Given the description of an element on the screen output the (x, y) to click on. 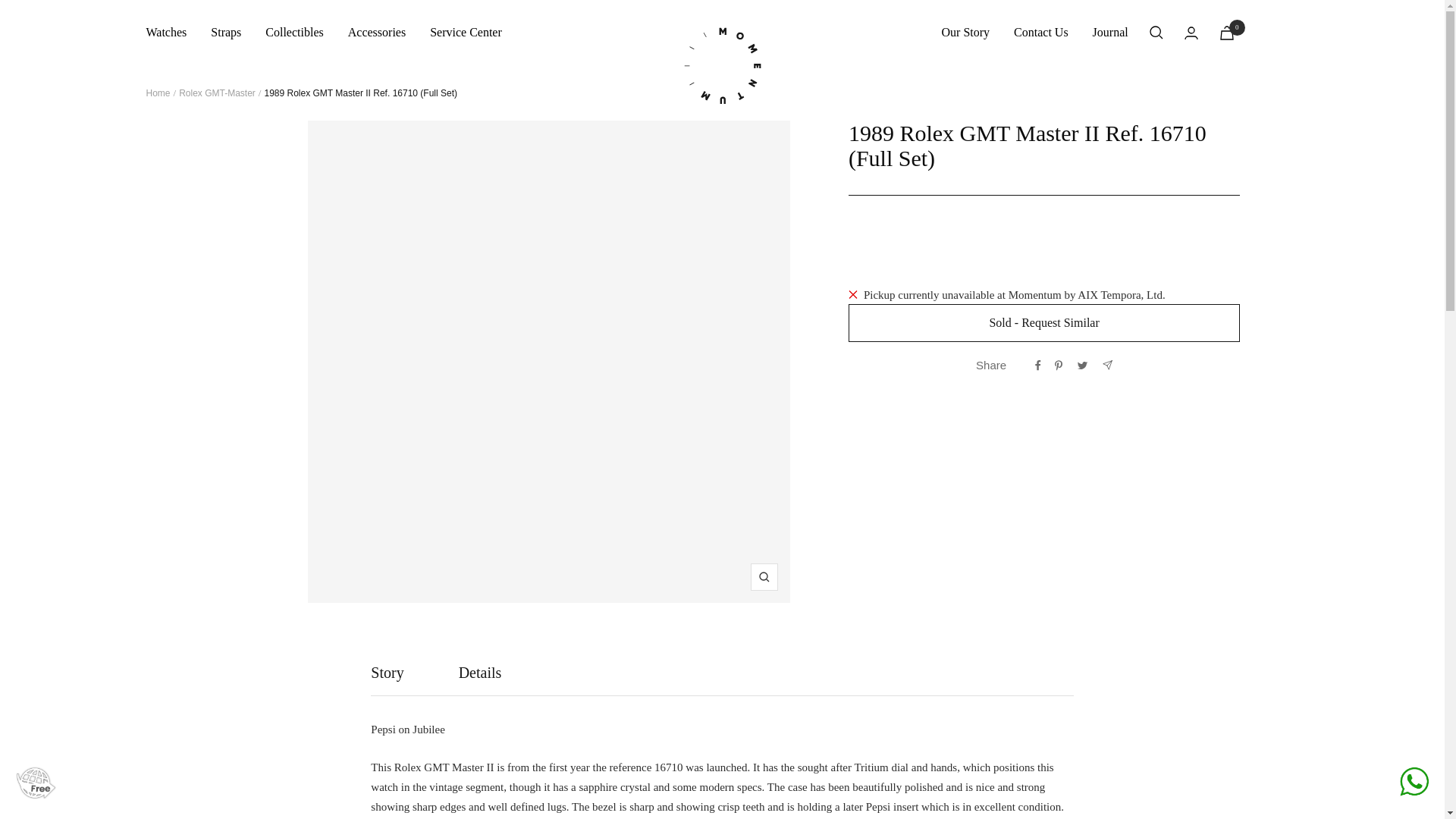
Accessories (376, 32)
Watches (165, 32)
Journal (722, 679)
0 (722, 679)
Collectibles (1110, 32)
Straps (1227, 32)
Our Story (293, 32)
Contact Us (226, 32)
Service Center (966, 32)
